Given the description of an element on the screen output the (x, y) to click on. 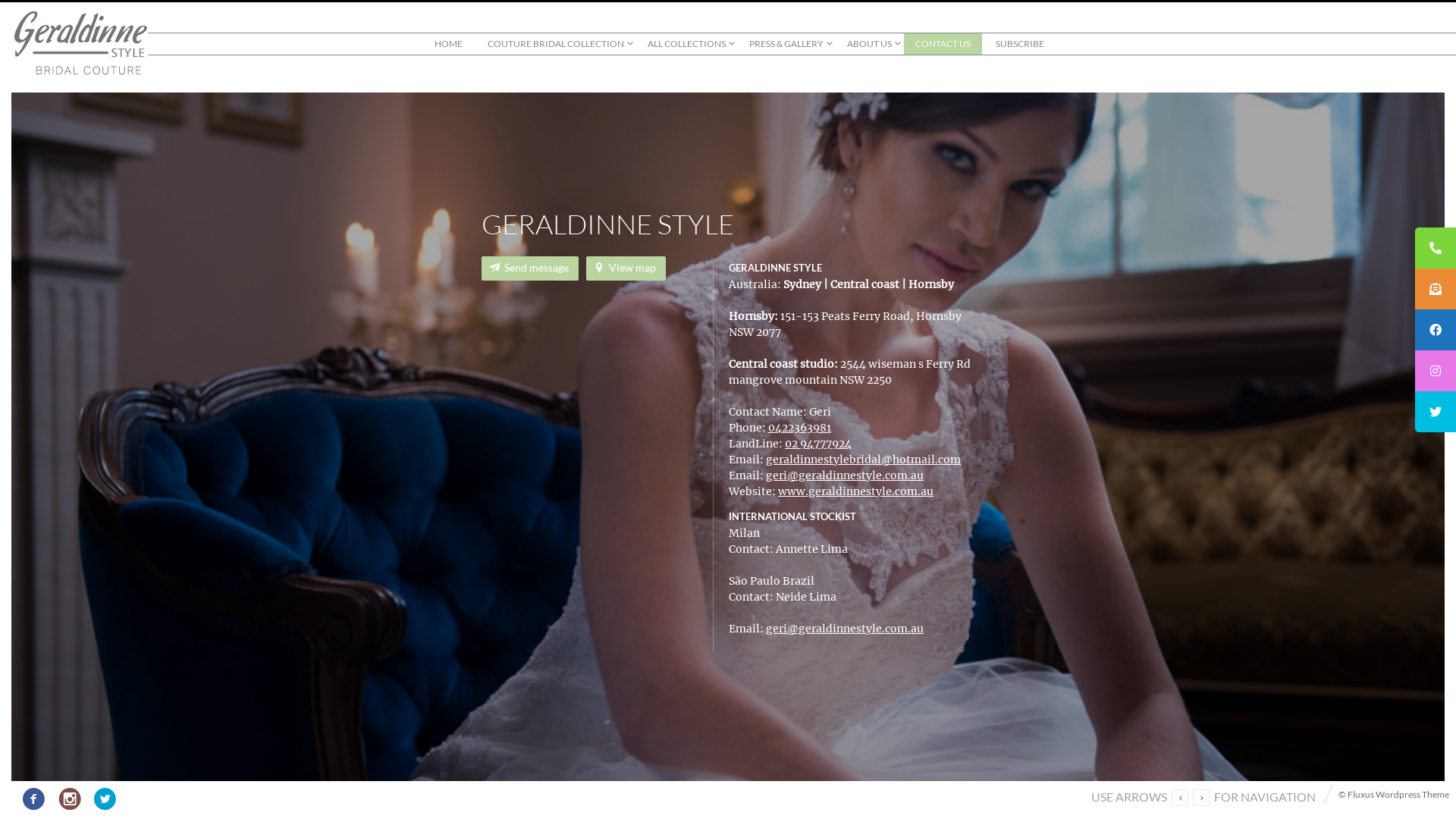
02 94777924 Element type: text (817, 443)
www.geraldinnestyle.com.au Element type: text (855, 491)
Send message Element type: text (529, 268)
PRESS & GALLERY Element type: text (785, 43)
Connect on Facebook Element type: hover (34, 796)
View map Element type: text (625, 268)
ALL COLLECTIONS Element type: text (685, 43)
Connect on Twitter Element type: hover (105, 796)
SUBSCRIBE Element type: text (1019, 43)
COUTURE BRIDAL COLLECTION Element type: text (554, 43)
Connect on Instagram Element type: hover (69, 796)
HOME Element type: text (448, 43)
0422363981 Element type: text (799, 427)
Send Element type: text (540, 337)
geri@geraldinnestyle.com.au Element type: text (844, 475)
geri@geraldinnestyle.com.au Element type: text (844, 628)
CONTACT US Element type: text (942, 43)
ABOUT US Element type: text (868, 43)
geraldinnestylebridal@hotmail.com Element type: text (862, 459)
